Given the description of an element on the screen output the (x, y) to click on. 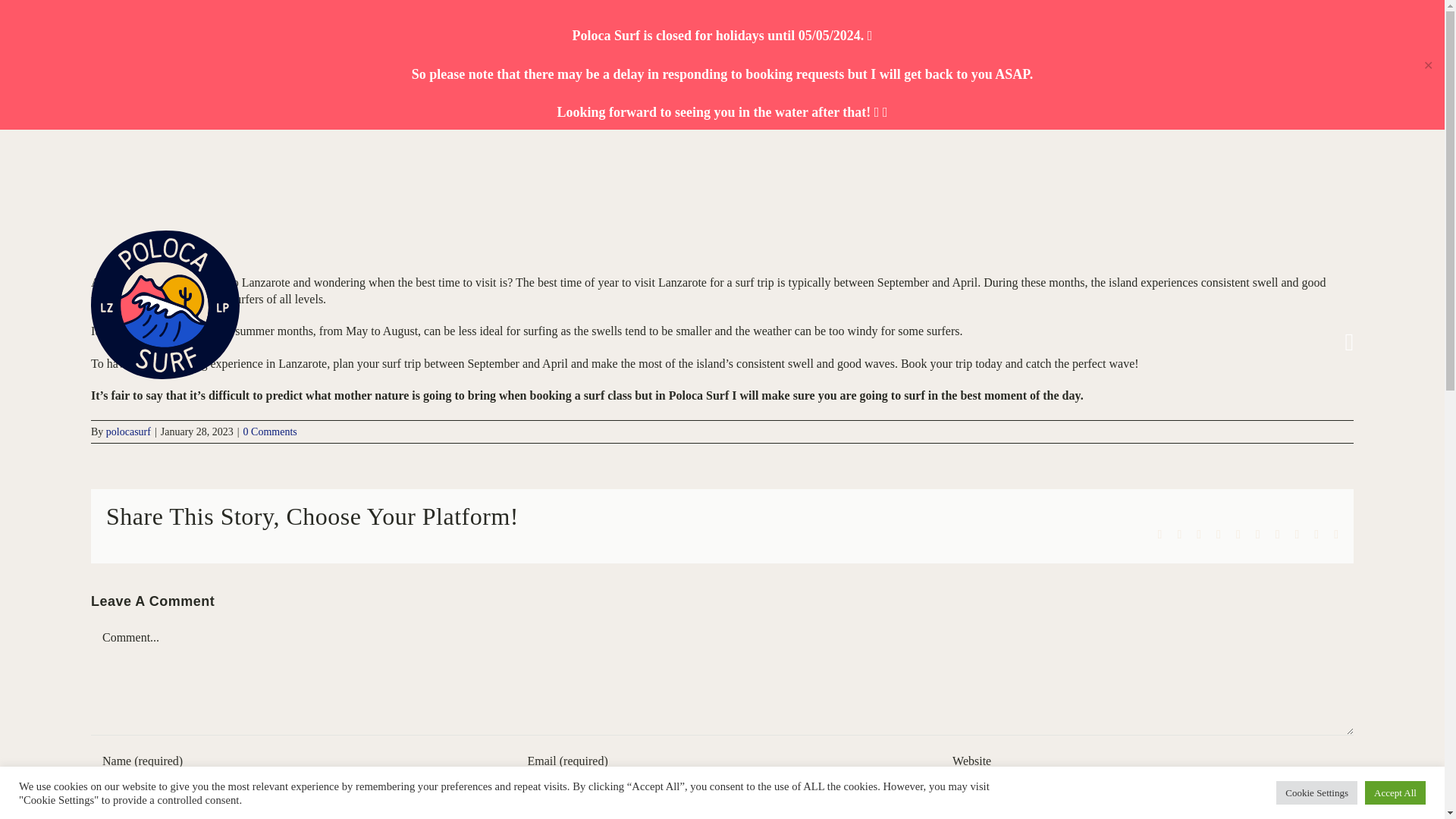
polocasurf (128, 431)
yes (98, 805)
0 Comments (270, 431)
Posts by polocasurf (128, 431)
